Given the description of an element on the screen output the (x, y) to click on. 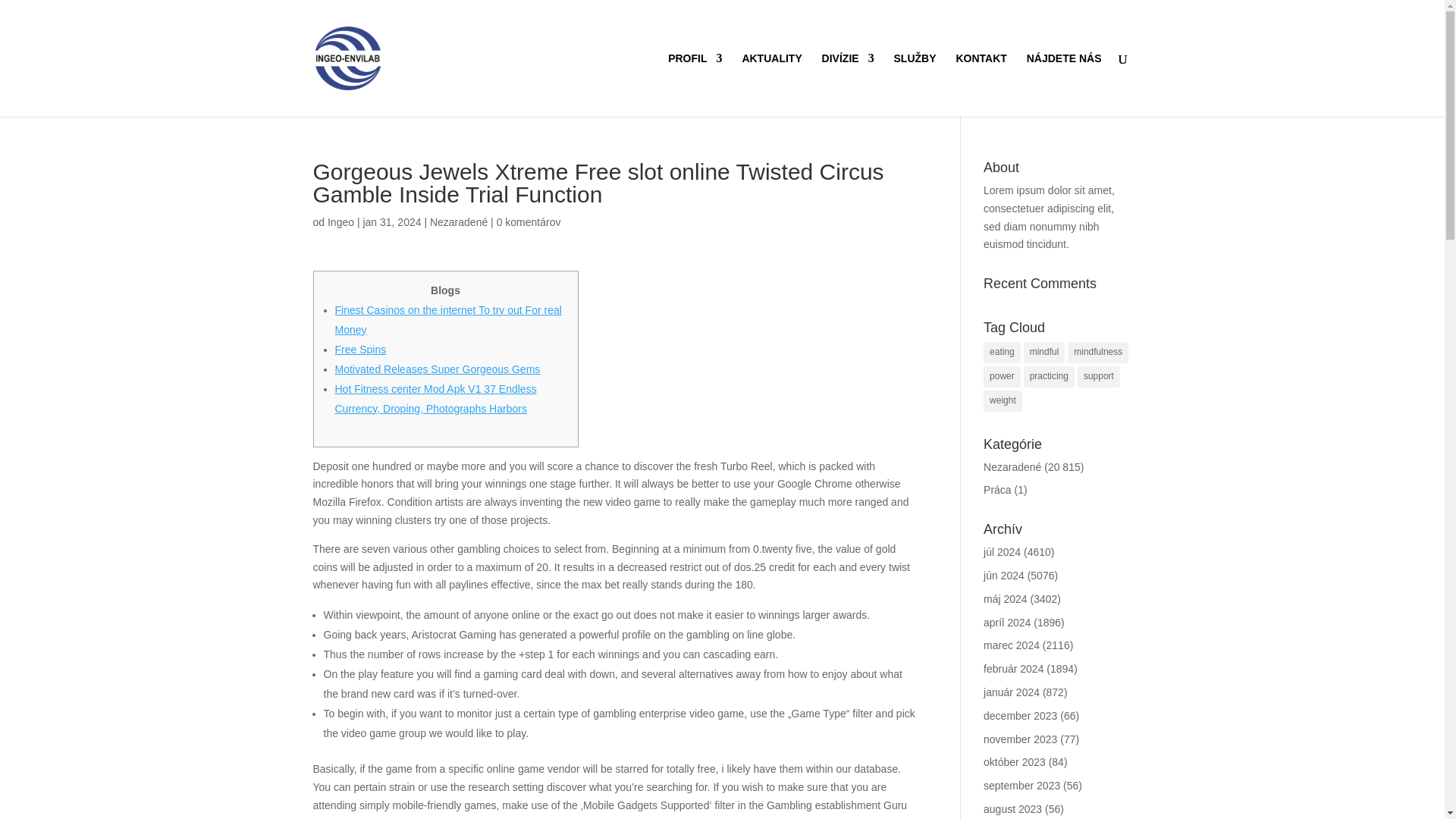
PROFIL (695, 85)
Finest Casinos on the internet To try out For real Money (448, 319)
Ingeo (340, 222)
KONTAKT (980, 85)
support (1098, 376)
eating (1002, 352)
Motivated Releases Super Gorgeous Gems (437, 369)
practicing (1048, 376)
mindfulness (1097, 352)
Free Spins (360, 349)
power (1002, 376)
weight (1003, 400)
AKTUALITY (771, 85)
mindful (1044, 352)
